Given the description of an element on the screen output the (x, y) to click on. 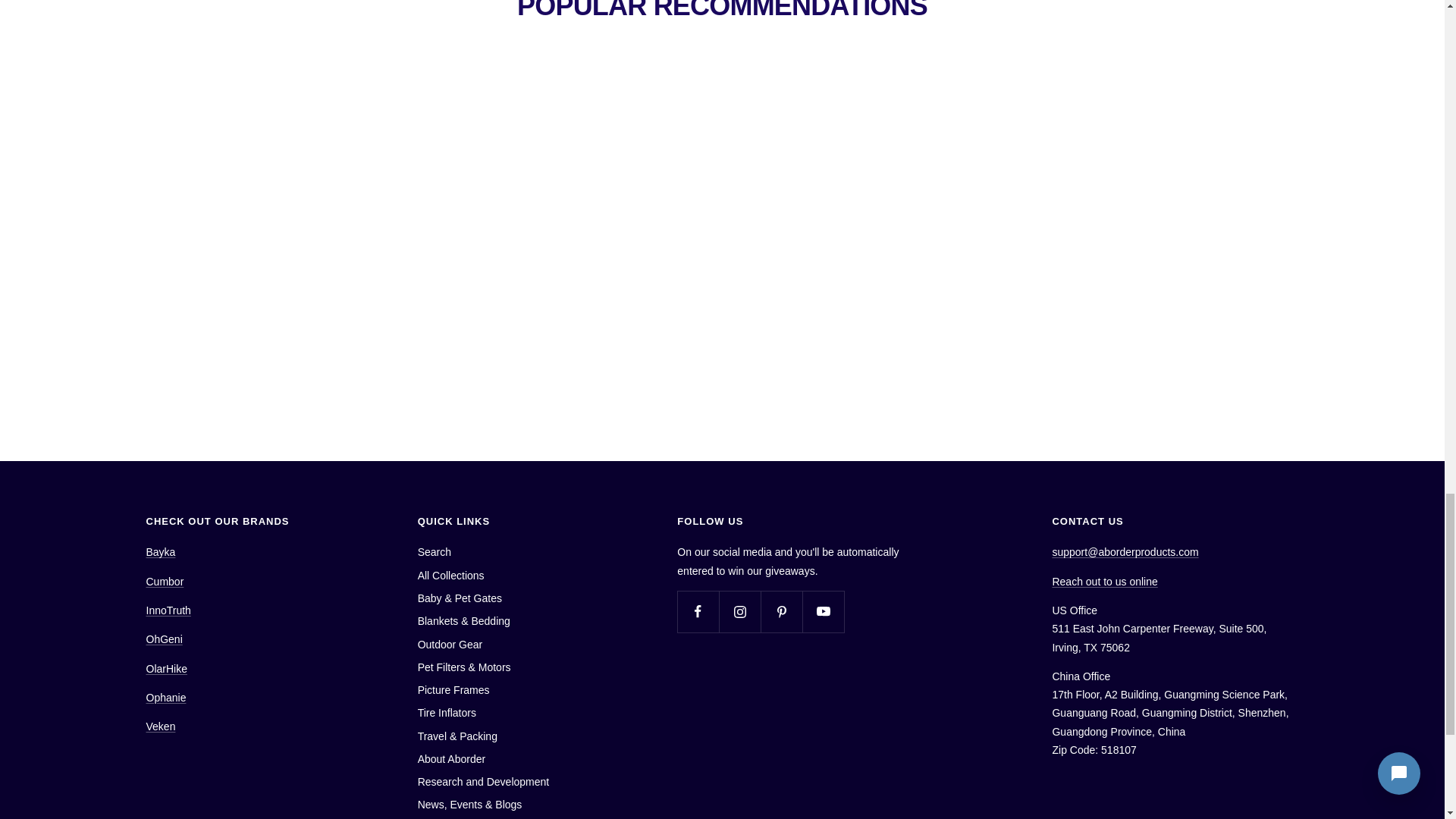
Cumbor Aborder Products (164, 581)
Ophanie Aborder Products (165, 697)
Contact (1104, 581)
InnoTruth (167, 610)
Bayka Aborder Products (159, 551)
Olarhike Aborder Products (165, 668)
Veken Aborder Products (159, 726)
Ohgeni Aborder Products (163, 639)
